Given the description of an element on the screen output the (x, y) to click on. 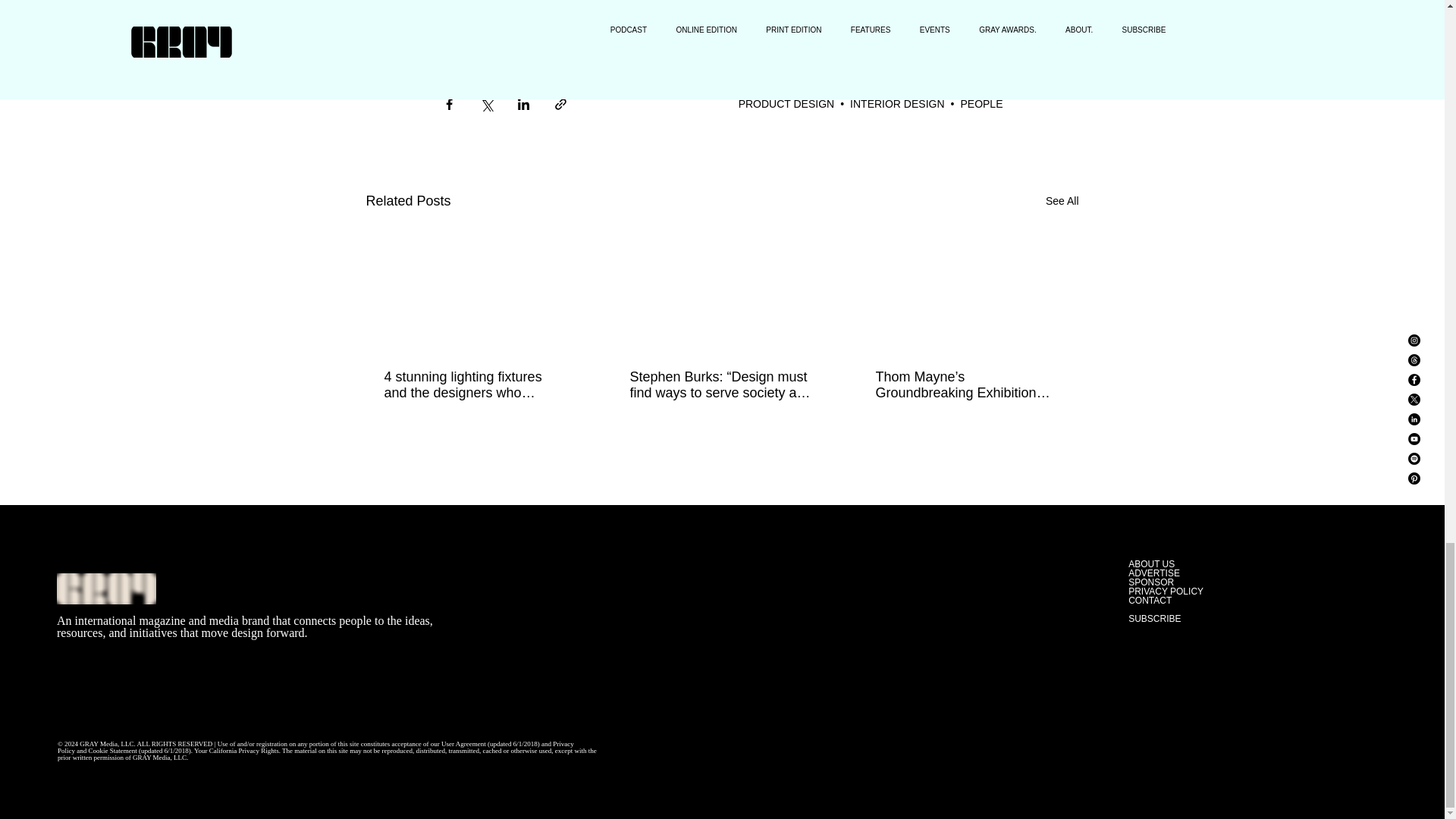
PALATTE Agency (788, 11)
